Given the description of an element on the screen output the (x, y) to click on. 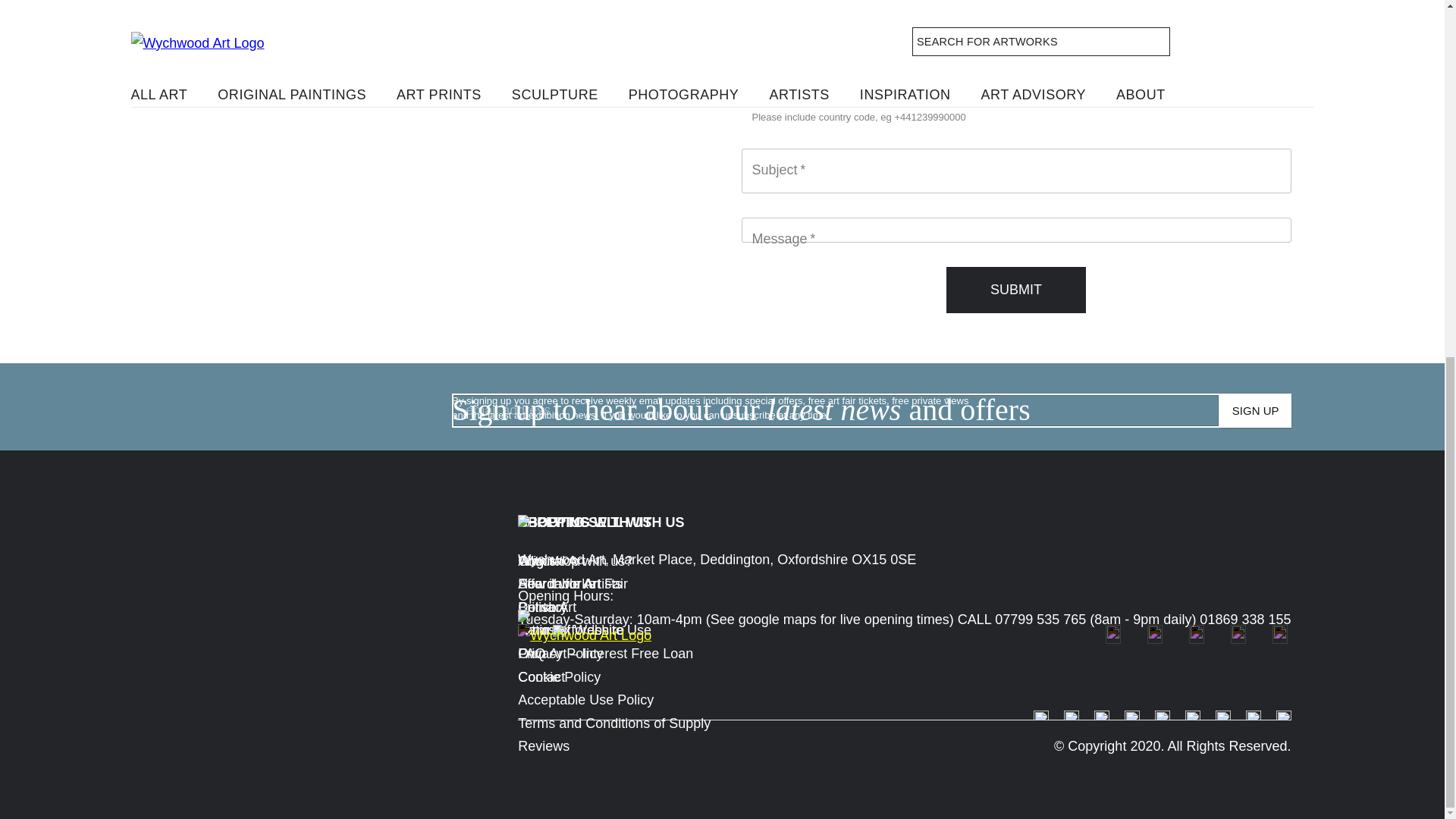
Wychwood Art (427, 101)
